Given the description of an element on the screen output the (x, y) to click on. 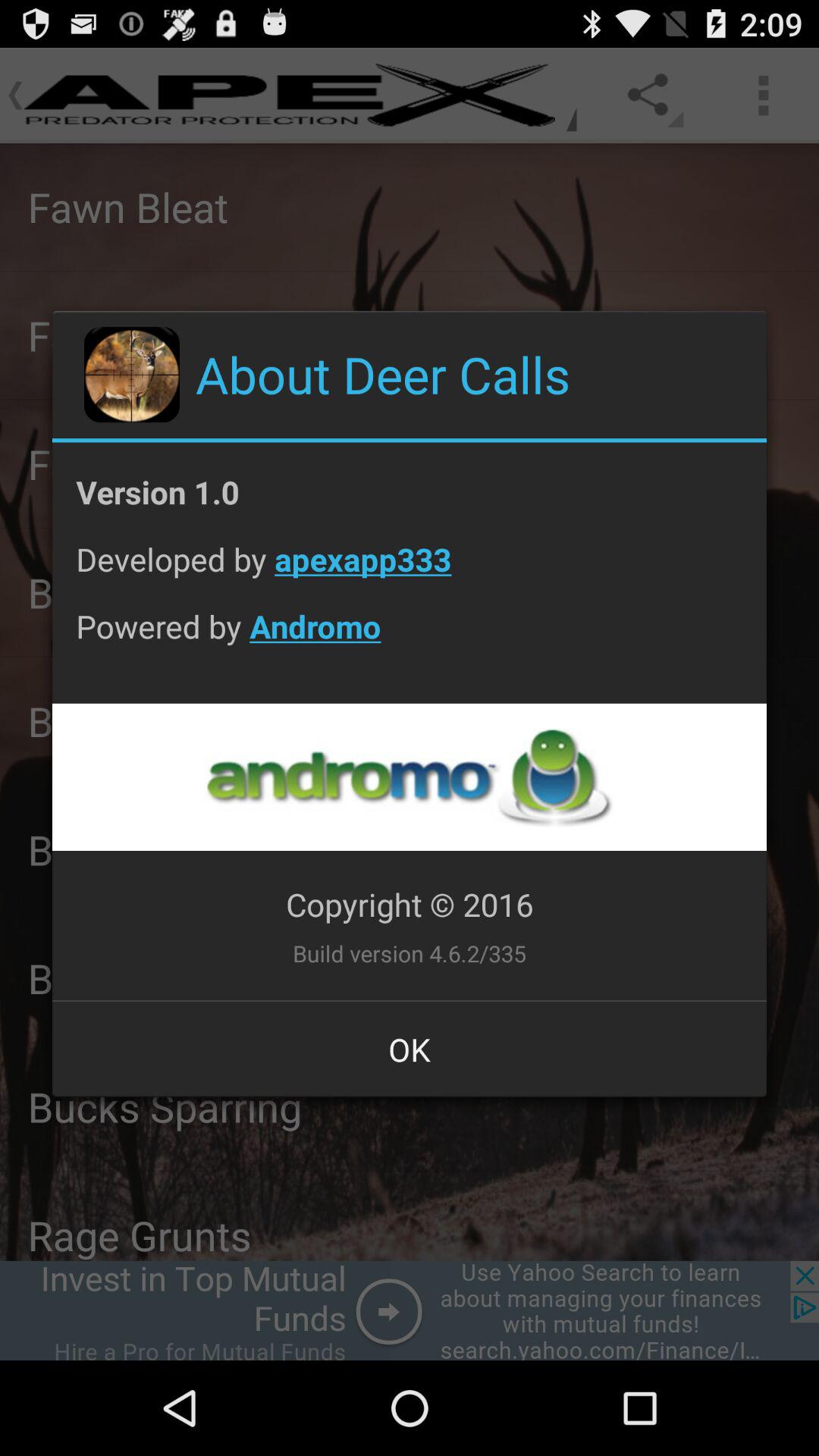
flip to developed by apexapp333 item (409, 570)
